Given the description of an element on the screen output the (x, y) to click on. 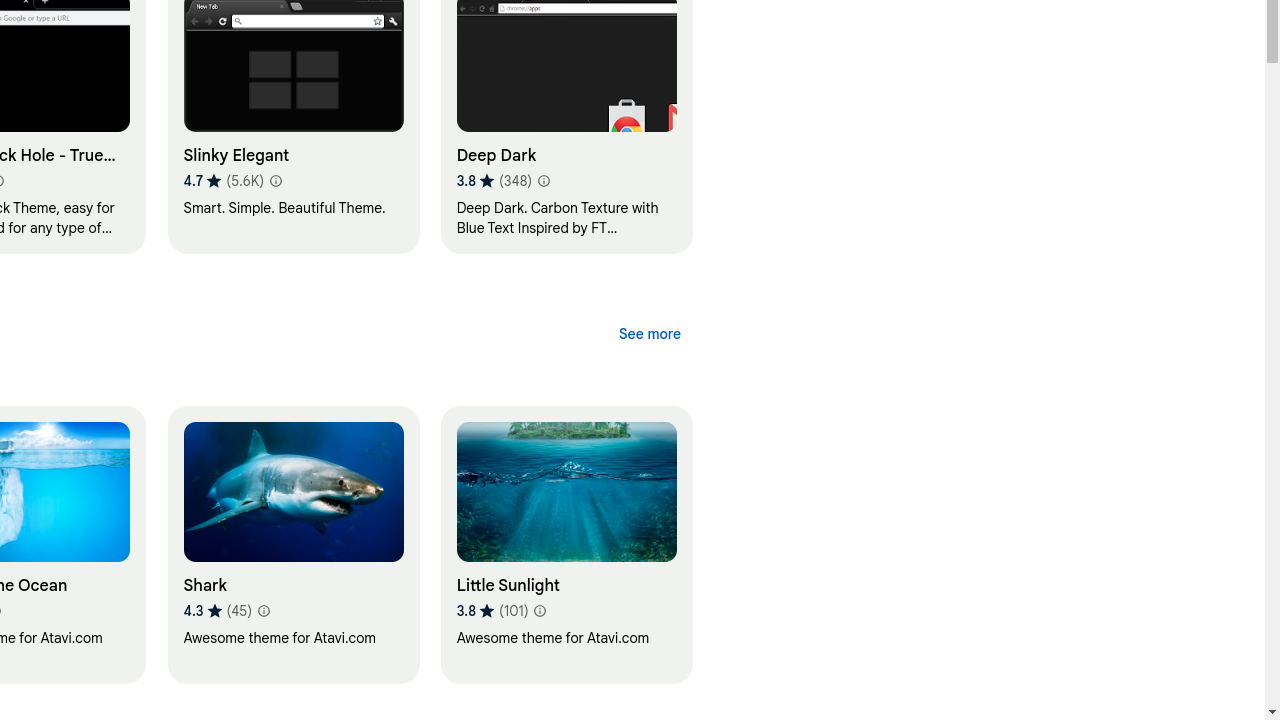
Shark Element type: link (293, 545)
Learn more about results and reviews "Slinky Elegant" Element type: push-button (275, 181)
See more of the "Under the sea" collection Element type: link (649, 334)
Learn more about results and reviews "Little Sunlight" Element type: push-button (539, 611)
Learn more about results and reviews "Shark" Element type: push-button (263, 611)
